Given the description of an element on the screen output the (x, y) to click on. 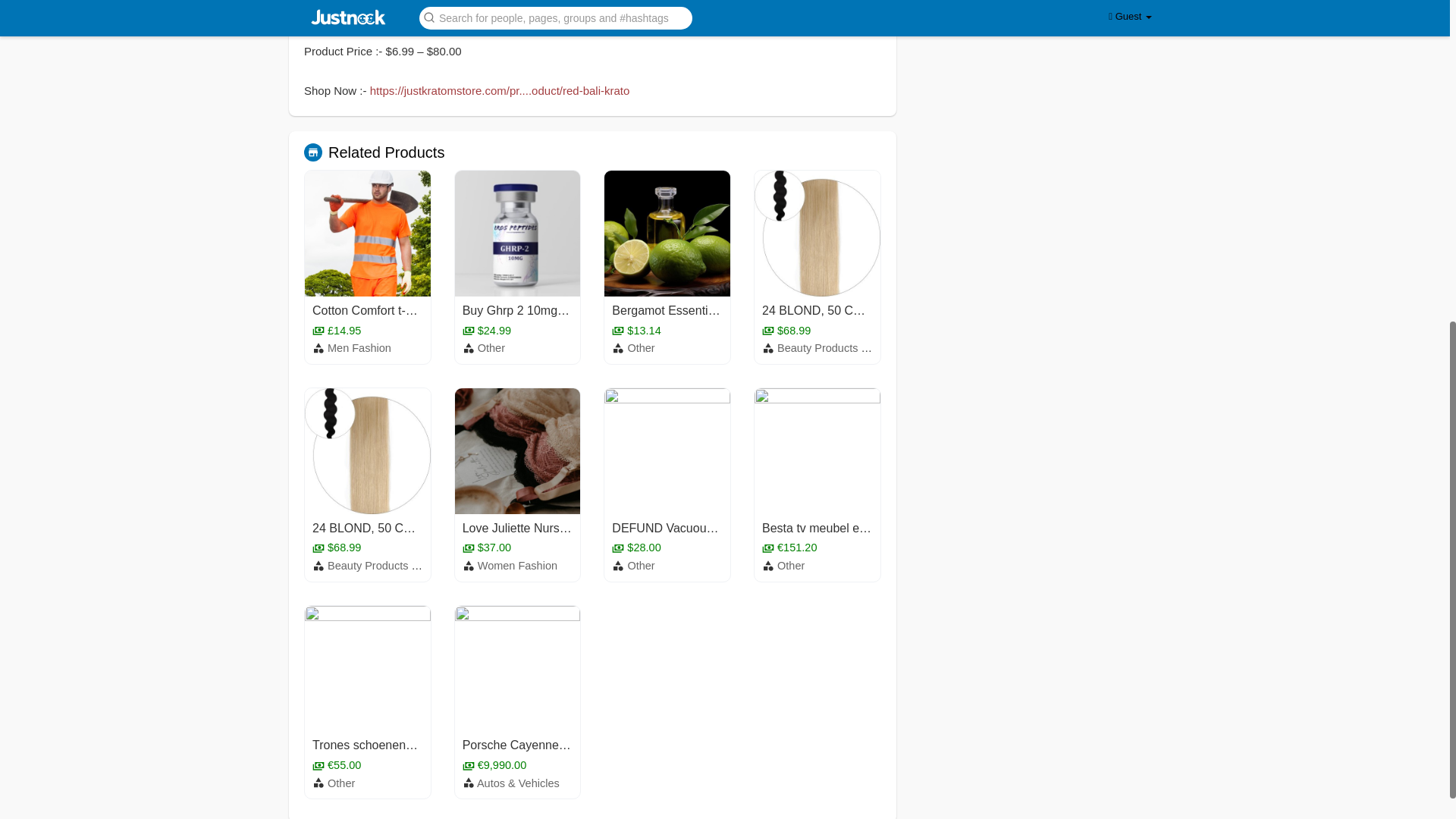
Other (640, 565)
Besta tv meubel eikenhouten plank (855, 527)
Buy Ghrp 2 10mg Online - Eros Peptides (572, 309)
Porsche Cayenne Coupe GTS V8 (554, 744)
Love Juliette Nursing Bralette (542, 527)
Other (491, 347)
Buy Ghrp 2 10mg Online - Eros Peptides (572, 309)
Love Juliette Nursing Bralette (542, 527)
Other (791, 565)
DEFUND Vacuous Slogans (684, 527)
